Given the description of an element on the screen output the (x, y) to click on. 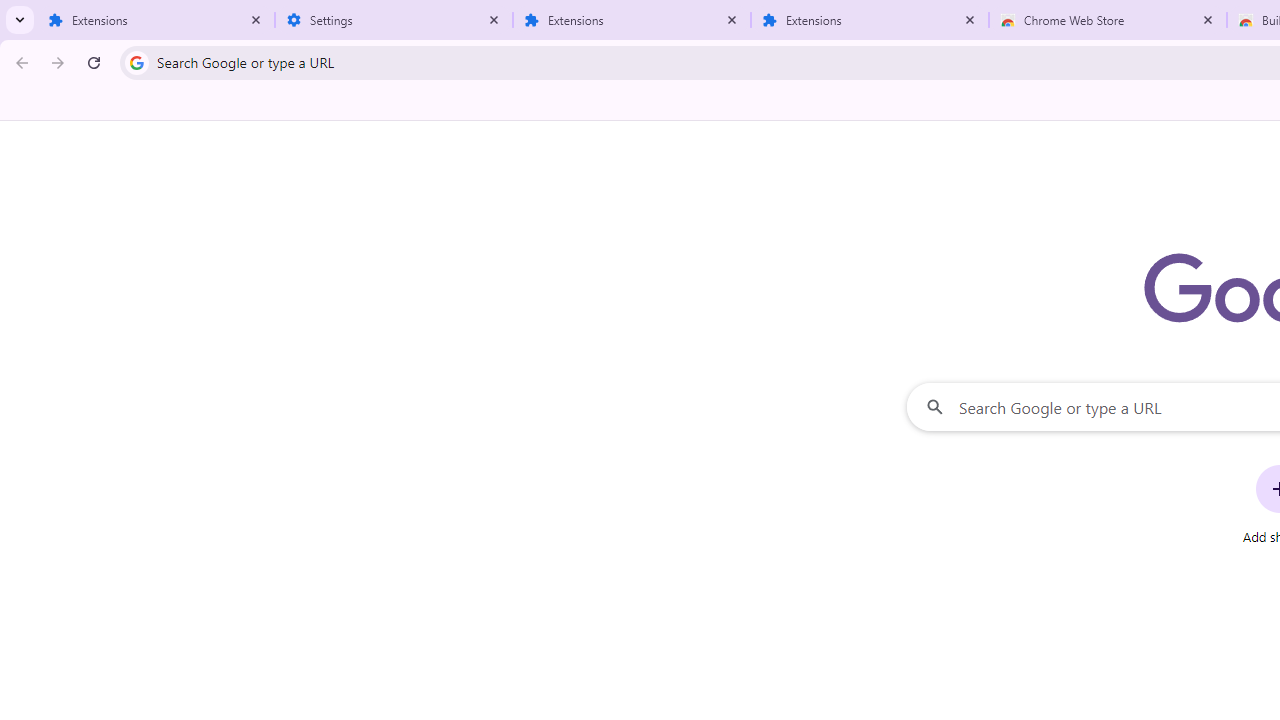
Settings (394, 20)
Extensions (632, 20)
Extensions (156, 20)
Chrome Web Store (1108, 20)
Extensions (870, 20)
